Given the description of an element on the screen output the (x, y) to click on. 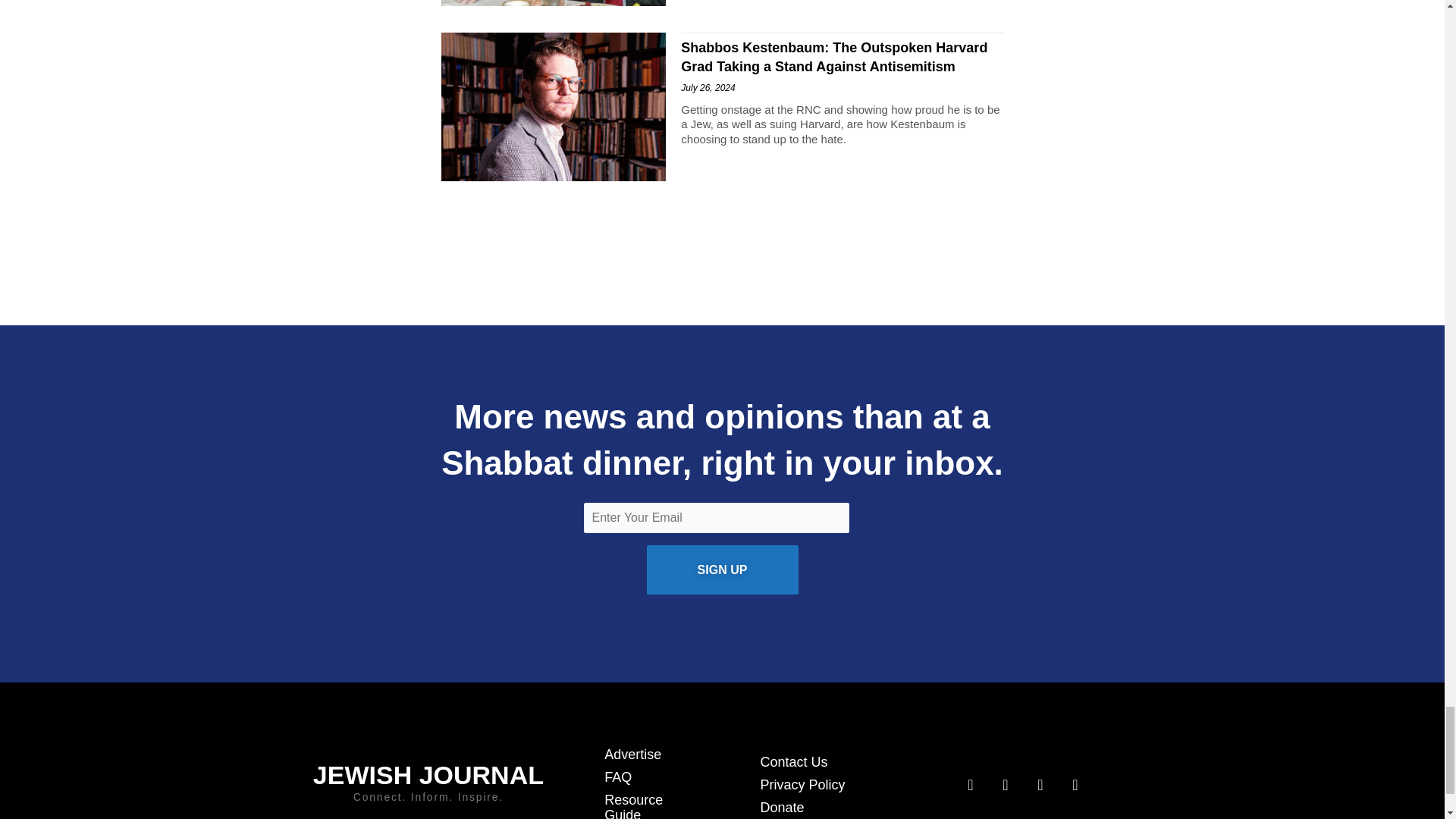
3rd party ad content (721, 242)
Sign Up (721, 570)
